Given the description of an element on the screen output the (x, y) to click on. 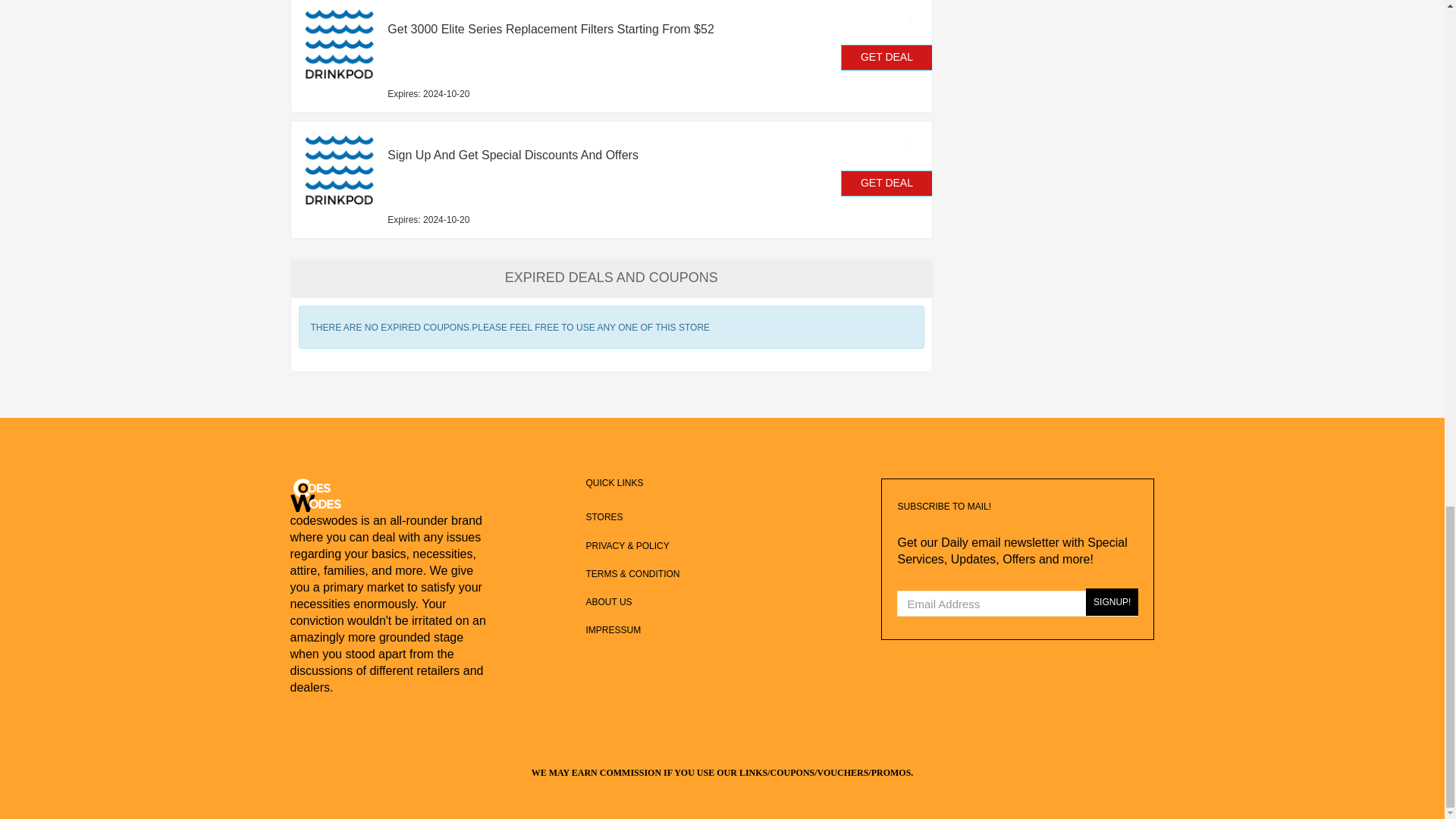
GET DEAL (887, 183)
GET DEAL (887, 57)
Sign Up And Get Special Discounts And Offers (576, 155)
